Given the description of an element on the screen output the (x, y) to click on. 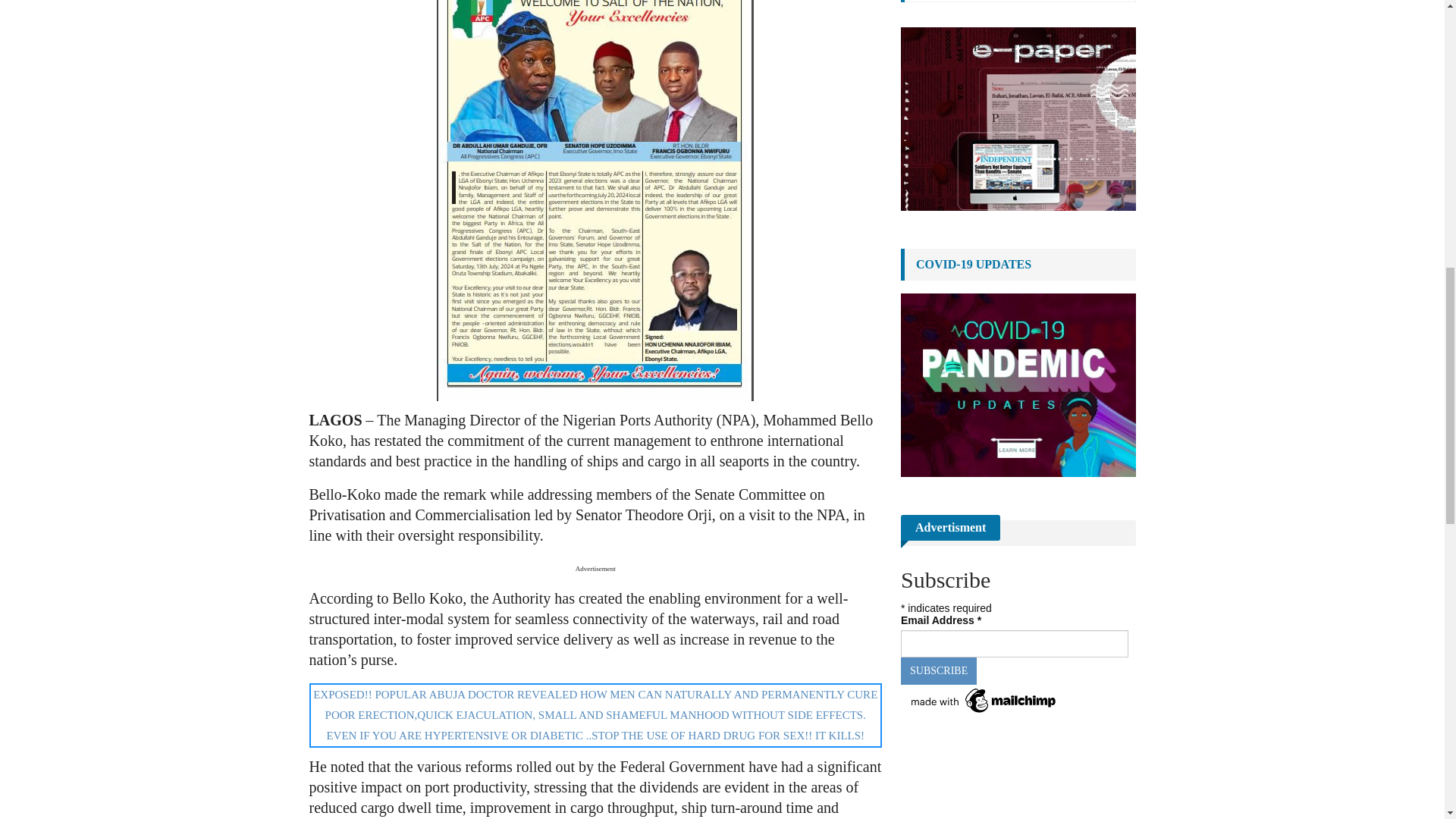
Subscribe (938, 670)
